Given the description of an element on the screen output the (x, y) to click on. 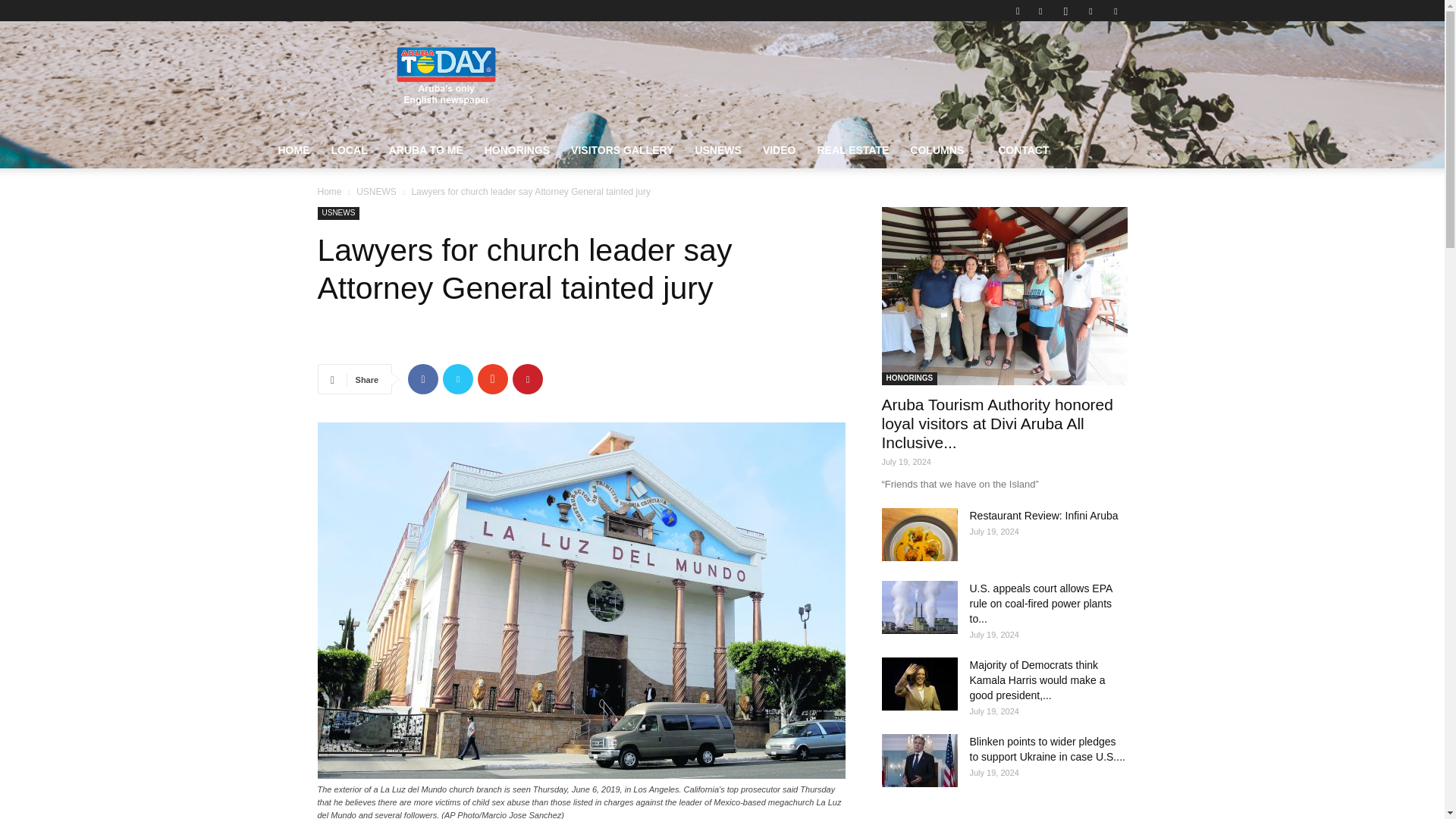
VISITORS GALLERY (622, 149)
HONORINGS (517, 149)
ARUBA TO ME (426, 149)
LOCAL (348, 149)
Youtube (1114, 10)
VIDEO (779, 149)
Instagram (1065, 10)
Facebook (1040, 10)
USNEWS (717, 149)
HOME (293, 149)
Mail (1090, 10)
Search (1085, 64)
View all posts in USNEWS (376, 191)
